Given the description of an element on the screen output the (x, y) to click on. 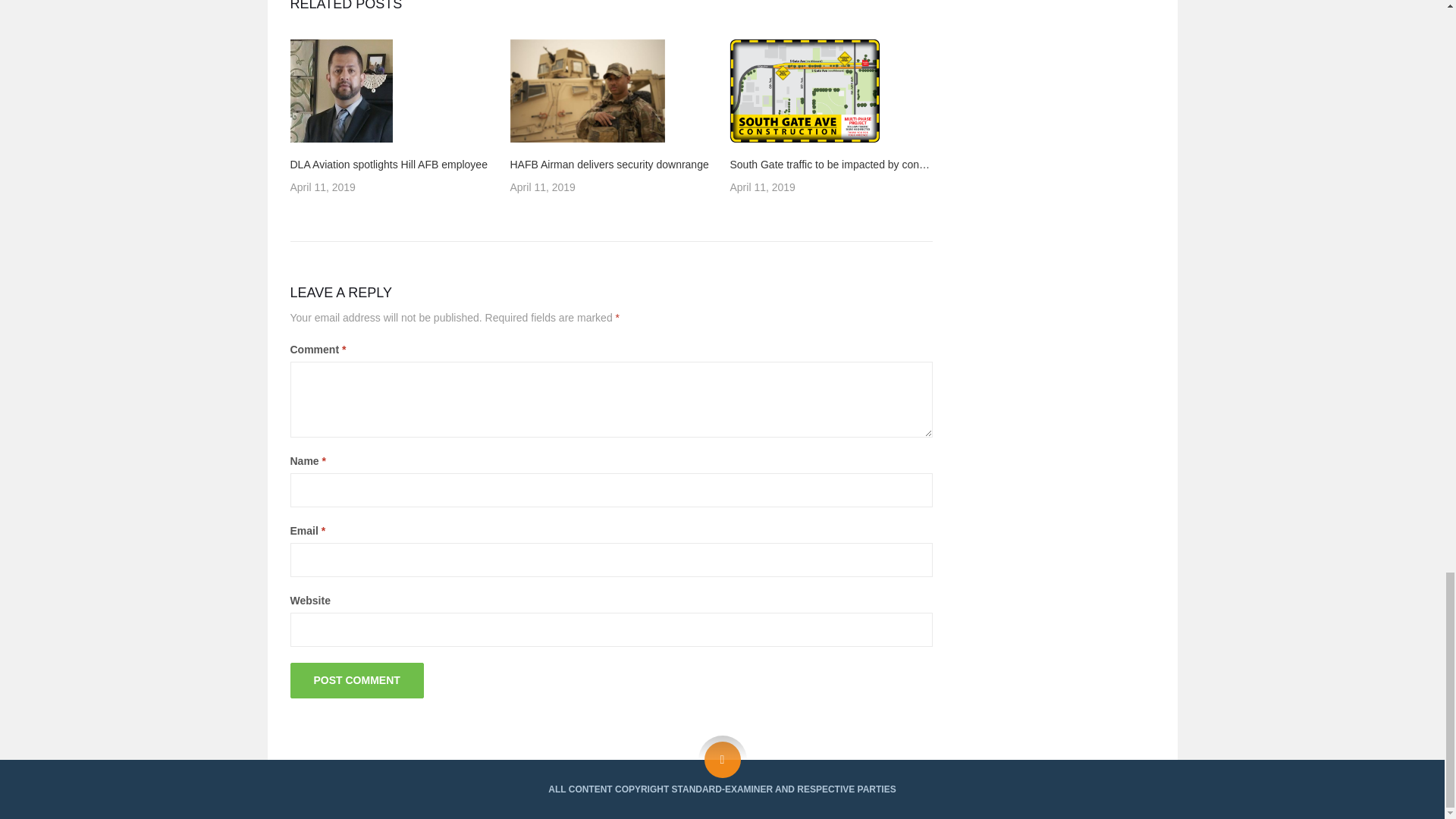
5cb507260169f.image (586, 90)
5cb5078f8d8f5.image (340, 90)
Post Comment (356, 680)
5cb506ddc64dc.image (804, 90)
